Given the description of an element on the screen output the (x, y) to click on. 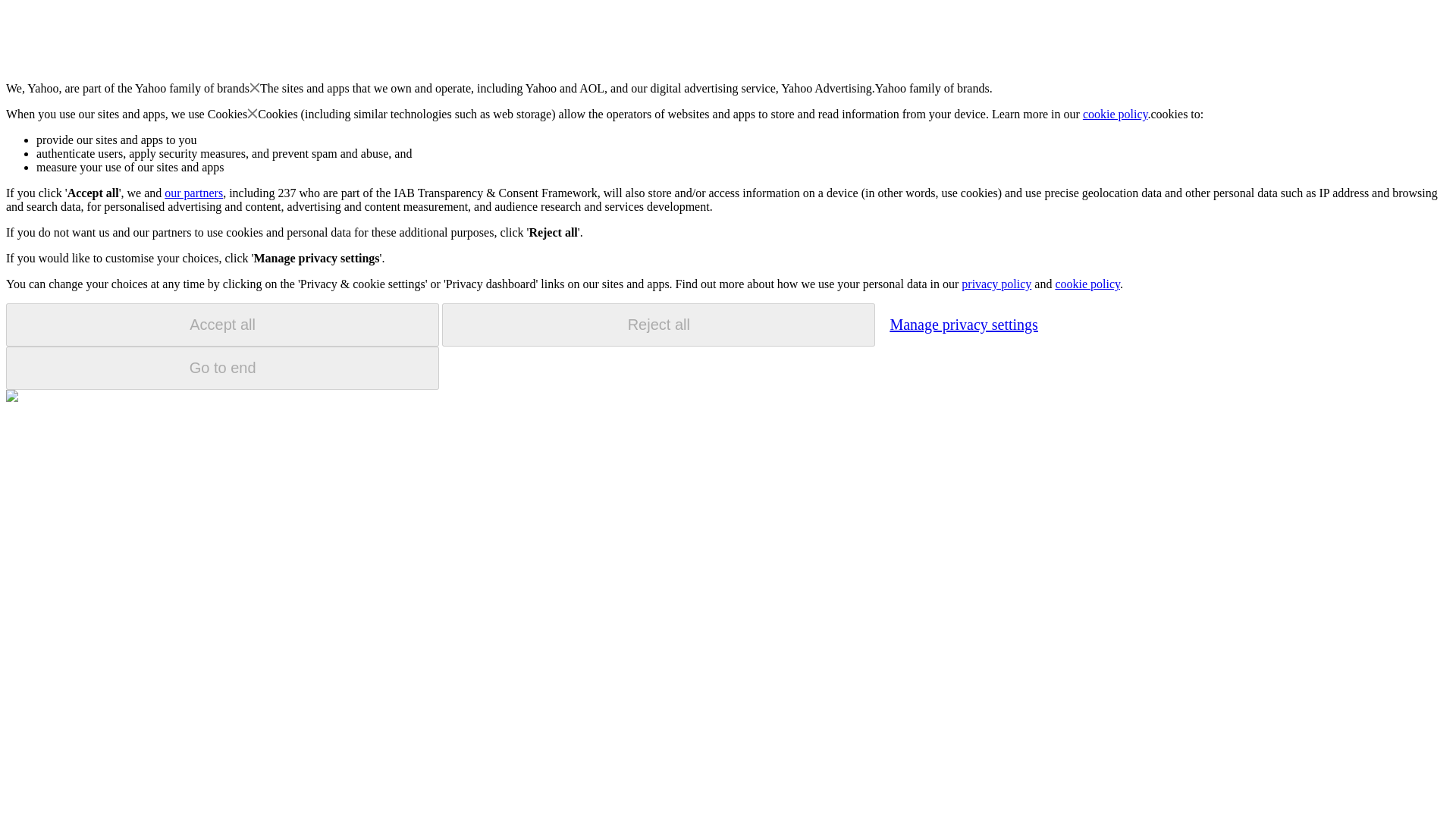
privacy policy (995, 283)
Manage privacy settings (963, 323)
Reject all (658, 324)
our partners (193, 192)
cookie policy (1115, 113)
Accept all (222, 324)
Go to end (222, 367)
cookie policy (1086, 283)
